Given the description of an element on the screen output the (x, y) to click on. 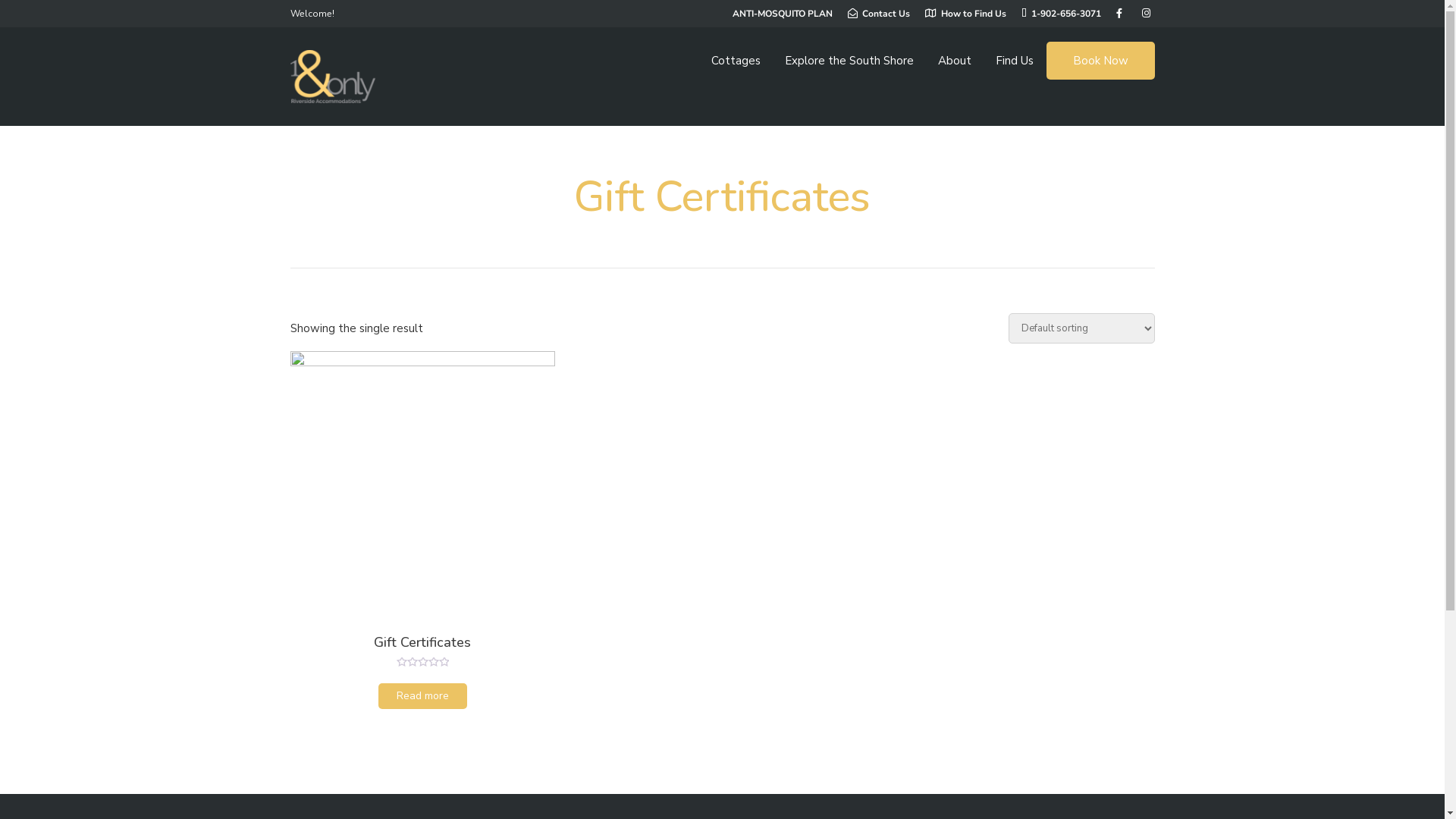
Explore the South Shore Element type: text (848, 60)
About Element type: text (953, 60)
Read more Element type: text (422, 696)
Contact Us Element type: text (878, 13)
Cottages Element type: text (735, 60)
How to Find Us Element type: text (965, 13)
Find Us Element type: text (1013, 60)
ANTI-MOSQUITO PLAN Element type: text (780, 13)
1-902-656-3071 Element type: text (1060, 13)
Gift Certificates Element type: text (422, 526)
Book Now Element type: text (1099, 60)
